Given the description of an element on the screen output the (x, y) to click on. 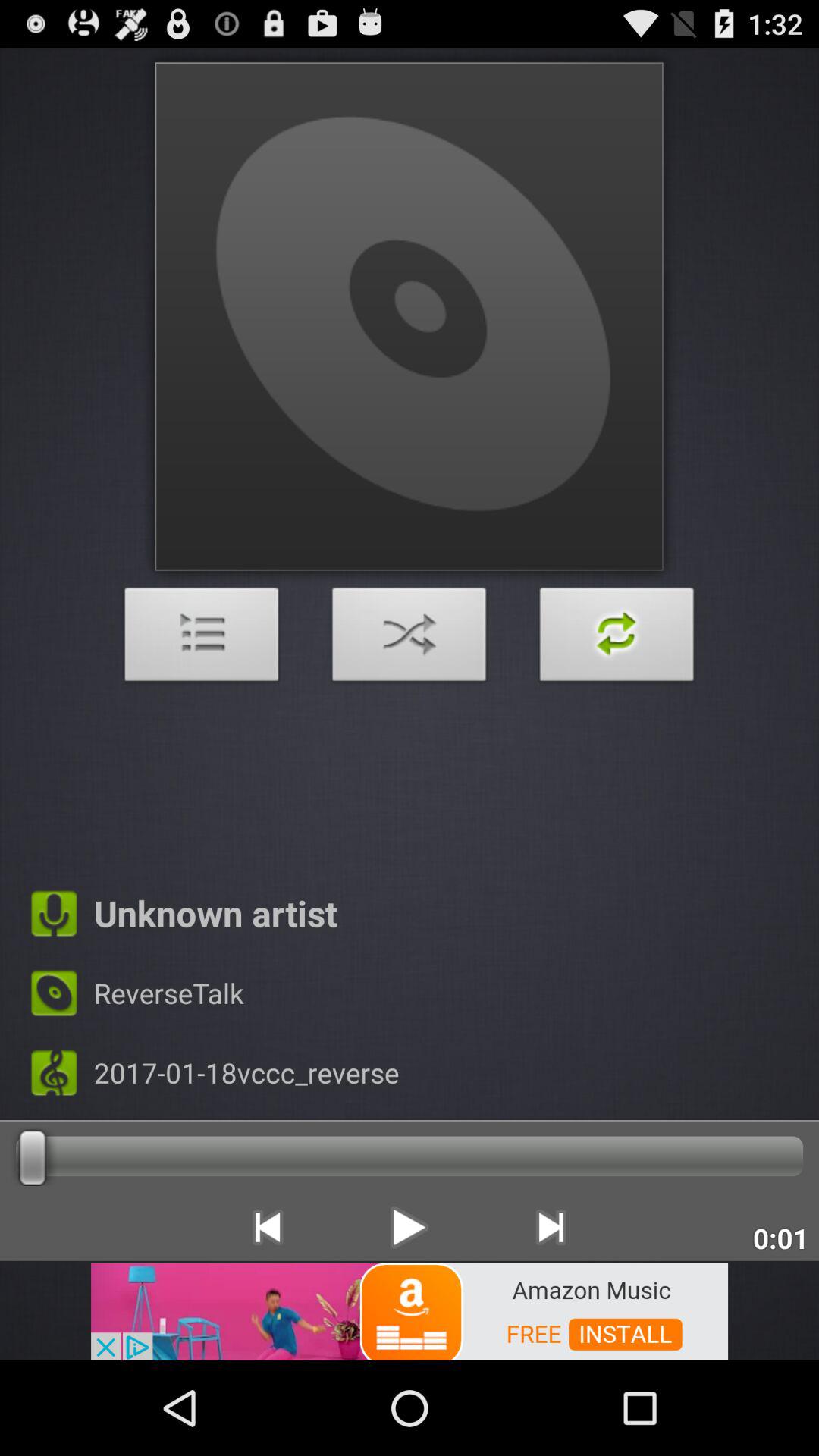
open main menu (201, 638)
